Given the description of an element on the screen output the (x, y) to click on. 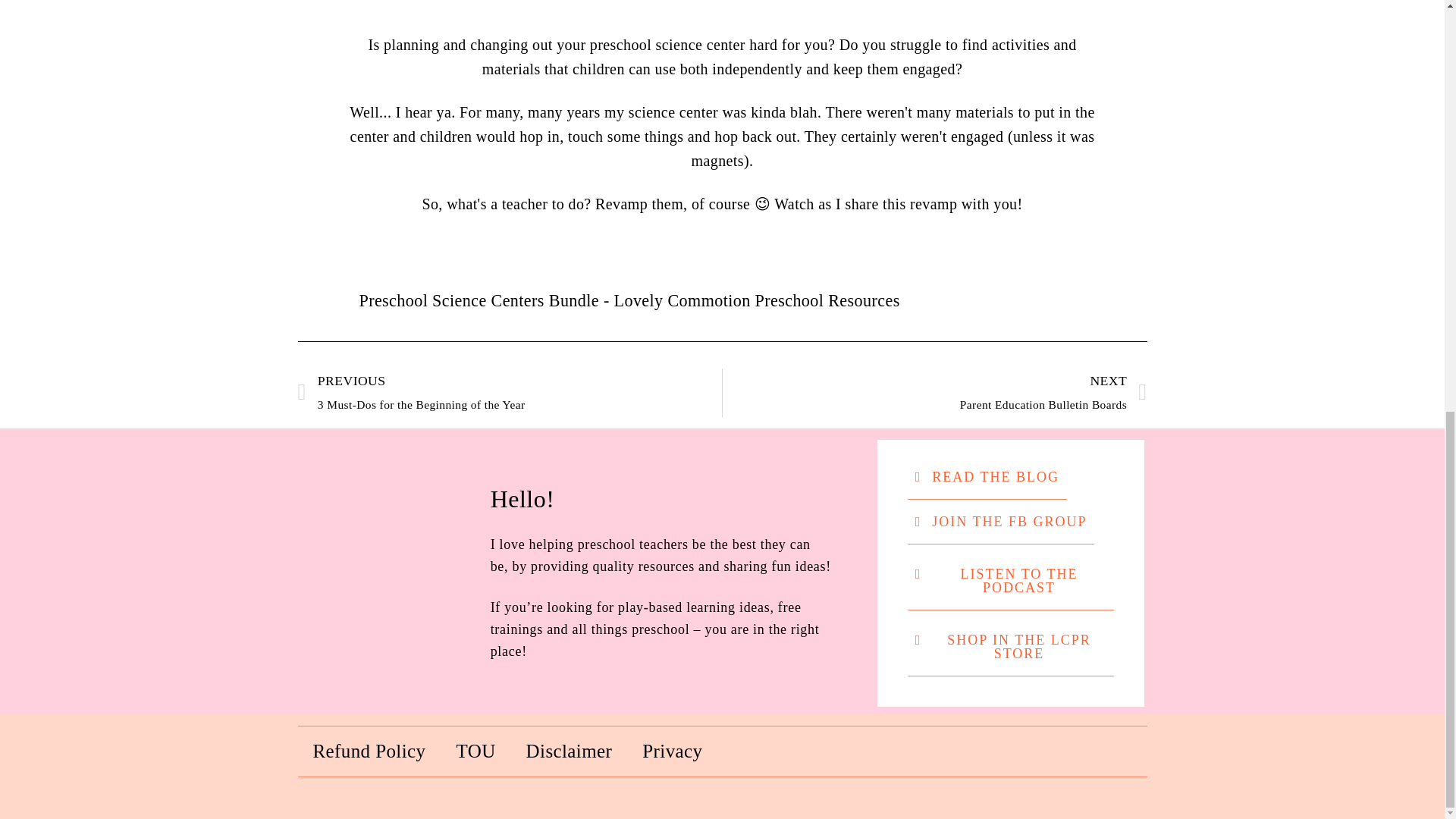
READ THE BLOG (987, 477)
Disclaimer (569, 751)
Privacy (672, 751)
JOIN THE FB GROUP (509, 392)
LISTEN TO THE PODCAST (1000, 521)
Refund Policy (934, 392)
TOU (1010, 581)
